Given the description of an element on the screen output the (x, y) to click on. 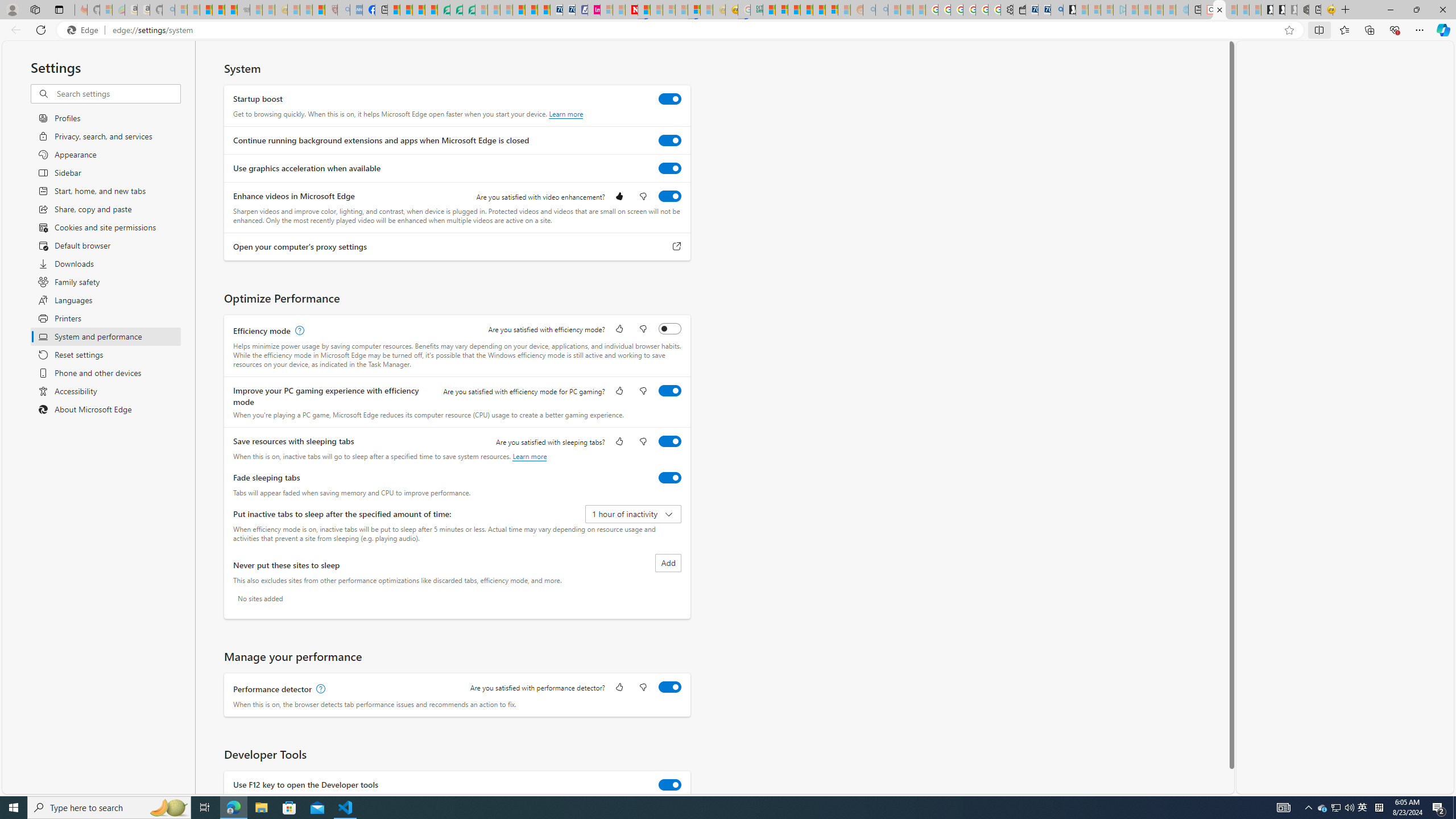
Cheap Hotels - Save70.com (568, 9)
Microsoft account | Privacy (781, 9)
Use F12 key to open the Developer tools (669, 784)
Personal Profile (12, 9)
Nordace - Nordace Siena Is Not An Ordinary Backpack (1302, 9)
Edge (84, 29)
Trusted Community Engagement and Contributions | Guidelines (644, 9)
Terms of Use Agreement (456, 9)
Enhance videos in Microsoft Edge (669, 196)
